Given the description of an element on the screen output the (x, y) to click on. 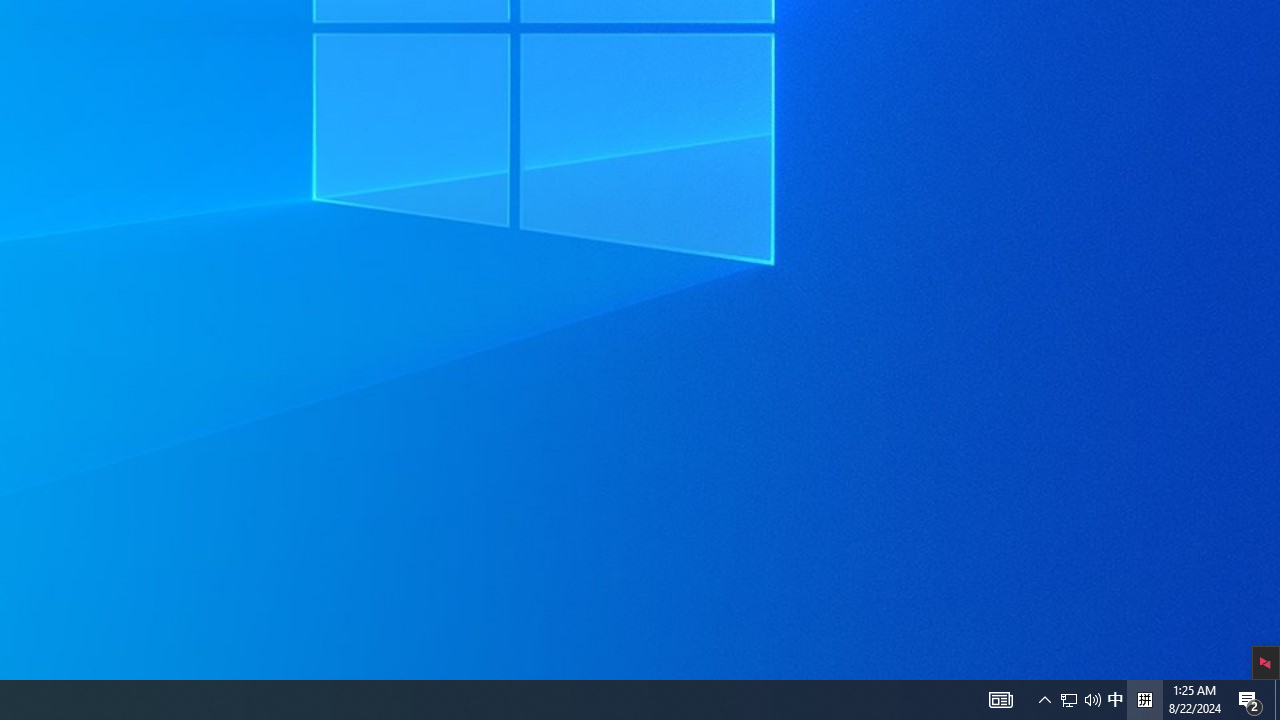
User Promoted Notification Area (1080, 699)
Tray Input Indicator - Chinese (Simplified, China) (1144, 699)
Q2790: 100% (1092, 699)
AutomationID: 4105 (1000, 699)
Action Center, 2 new notifications (1250, 699)
Notification Chevron (1069, 699)
Show desktop (1044, 699)
